Given the description of an element on the screen output the (x, y) to click on. 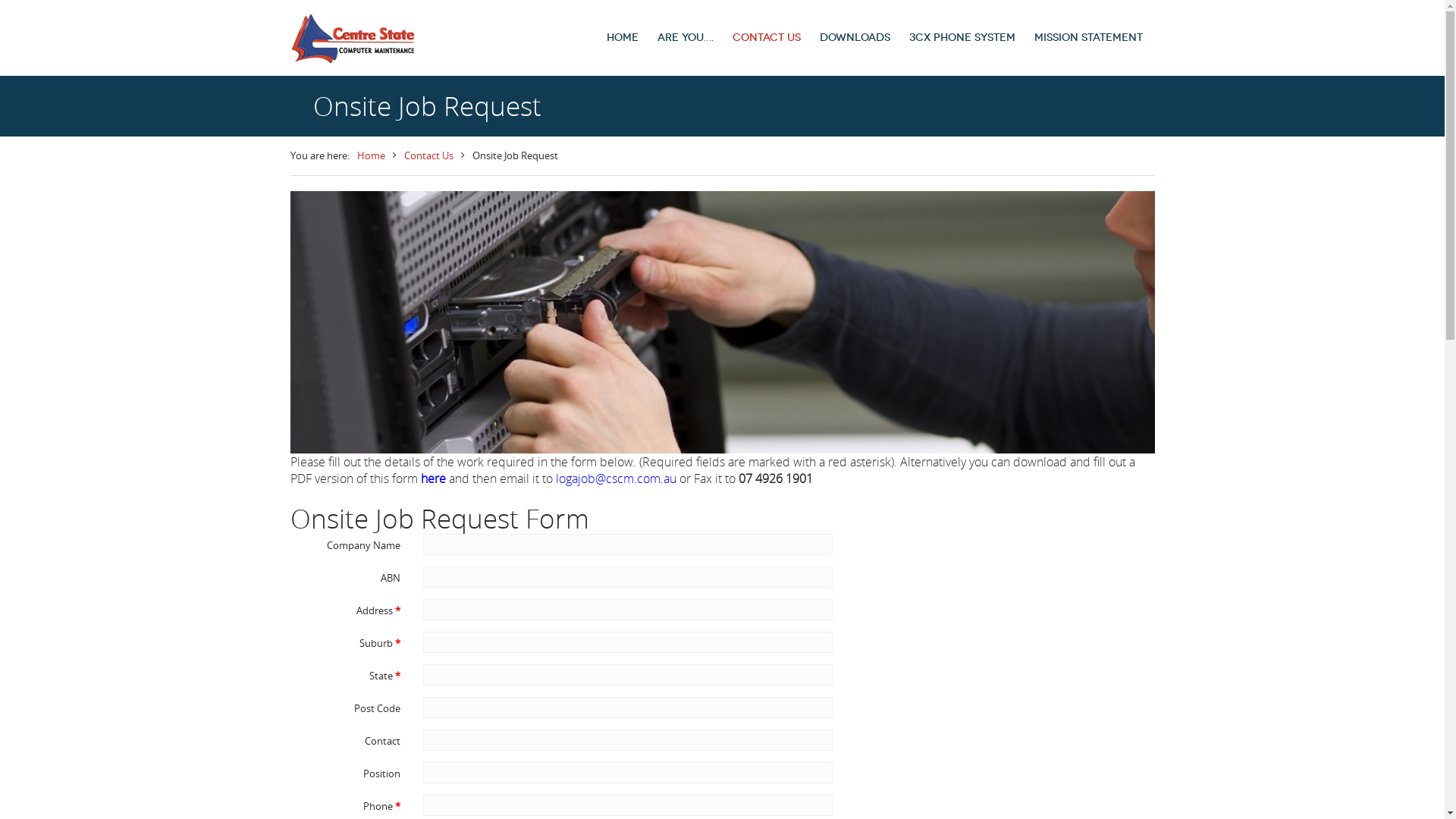
MISSION STATEMENT Element type: text (1088, 37)
DOWNLOADS Element type: text (854, 37)
3CX PHONE SYSTEM Element type: text (961, 37)
HOME Element type: text (622, 37)
Home Element type: text (370, 155)
here Element type: text (432, 478)
logajob@cscm.com.au Element type: text (615, 478)
CONTACT US Element type: text (766, 37)
Contact Us Element type: text (427, 155)
